Given the description of an element on the screen output the (x, y) to click on. 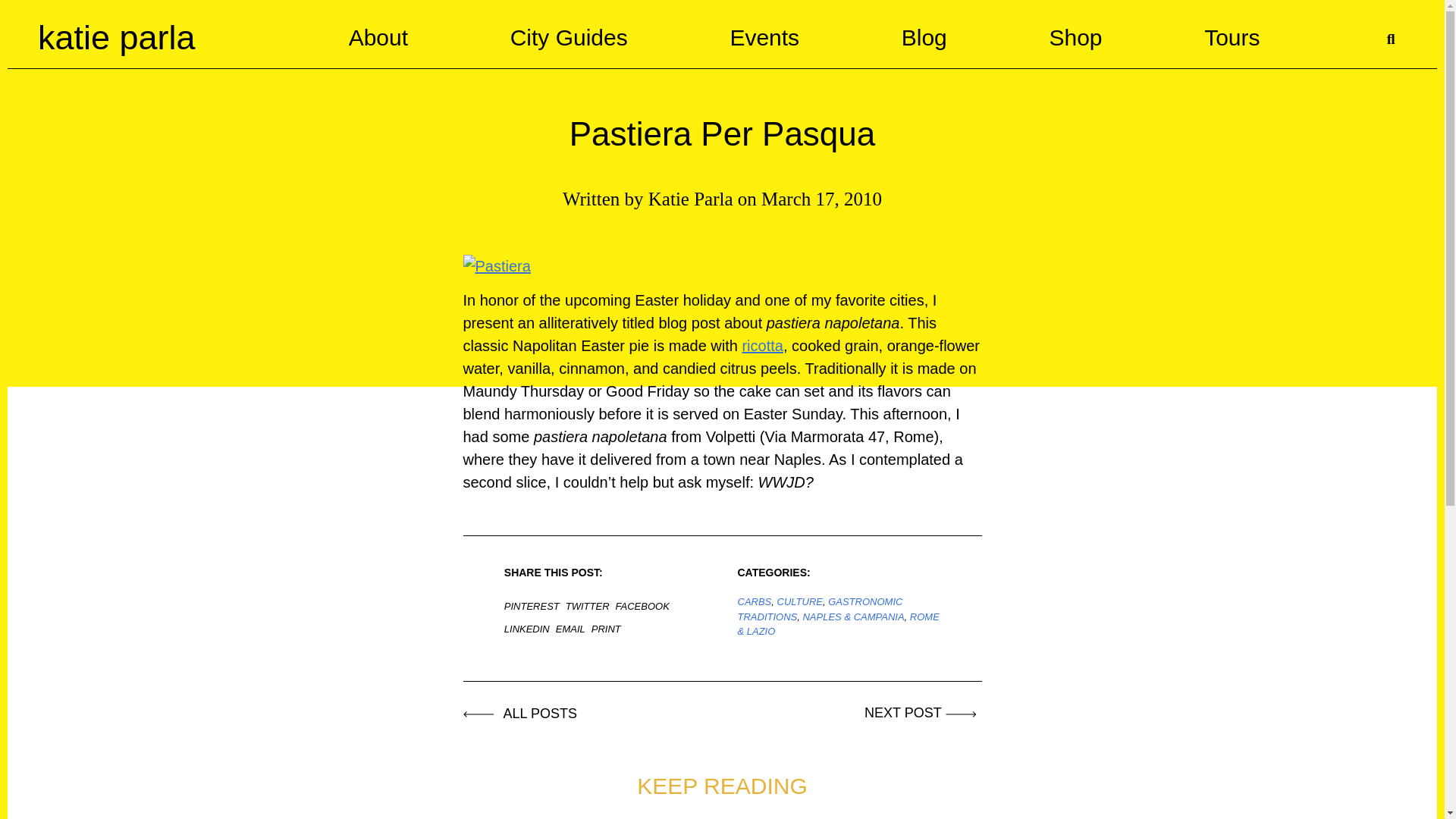
GASTRONOMIC TRADITIONS (819, 609)
EMAIL (573, 628)
City Guides (568, 37)
TWITTER (590, 605)
PRINT (609, 628)
Click Here (922, 712)
Events (764, 37)
Shop (1075, 37)
Tours (1231, 37)
katie parla (116, 37)
